Given the description of an element on the screen output the (x, y) to click on. 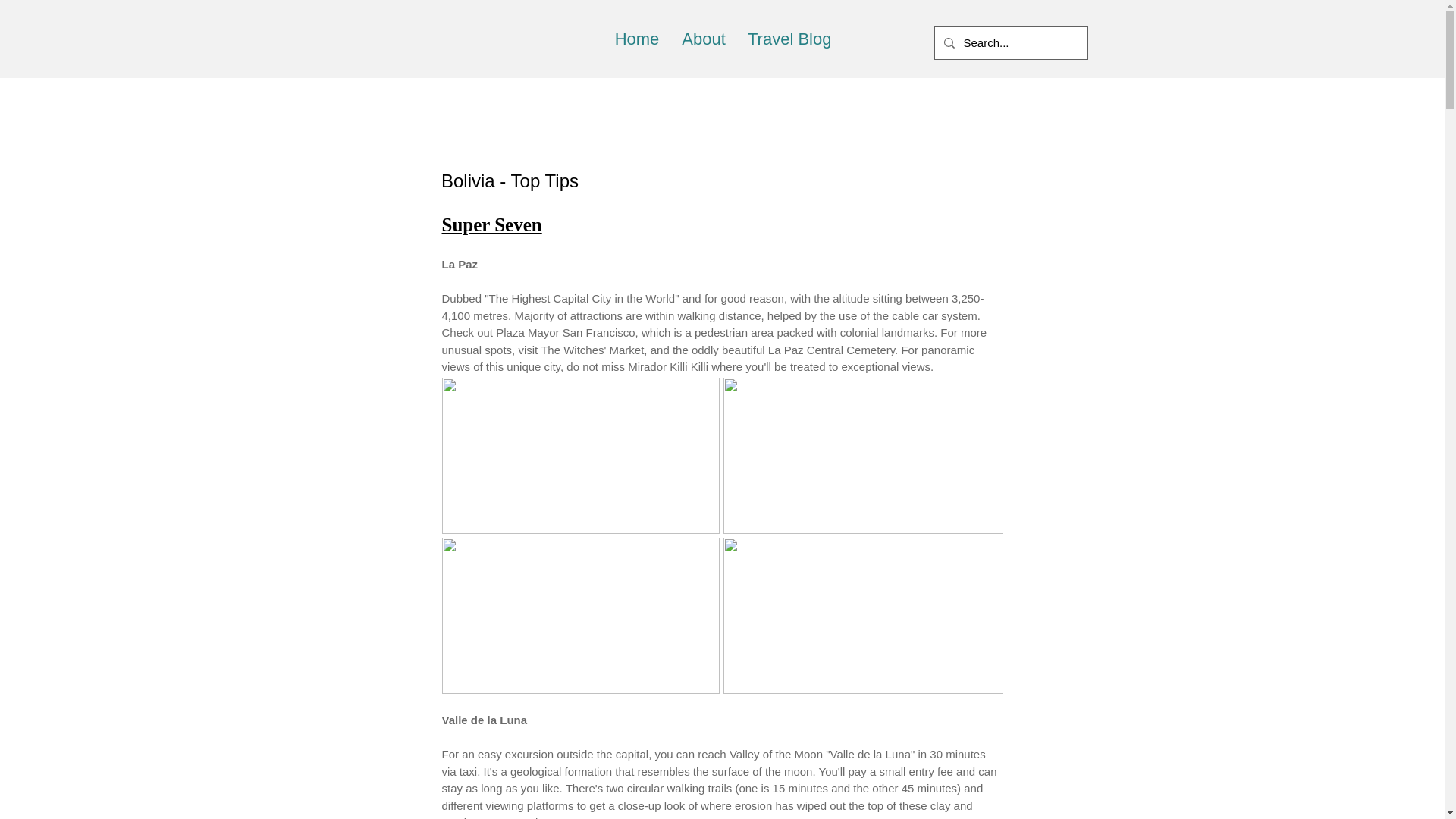
Home (636, 38)
About (702, 38)
Travel Blog (788, 38)
